Given the description of an element on the screen output the (x, y) to click on. 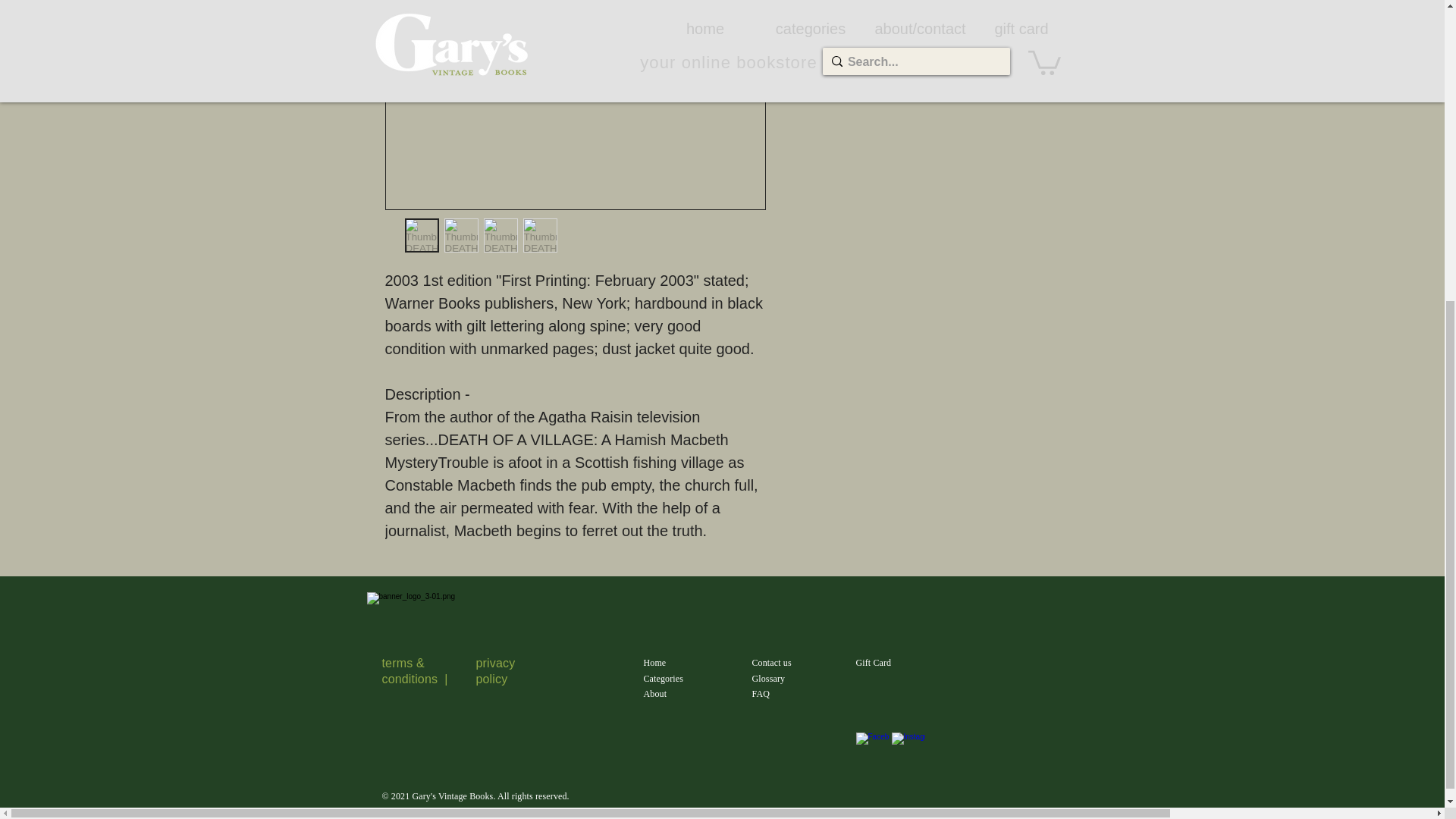
Home (654, 662)
privacy policy (495, 670)
About (654, 693)
Glossary (769, 678)
FAQ (761, 693)
Categories (662, 678)
Gift Card (873, 662)
Contact us (772, 662)
